Given the description of an element on the screen output the (x, y) to click on. 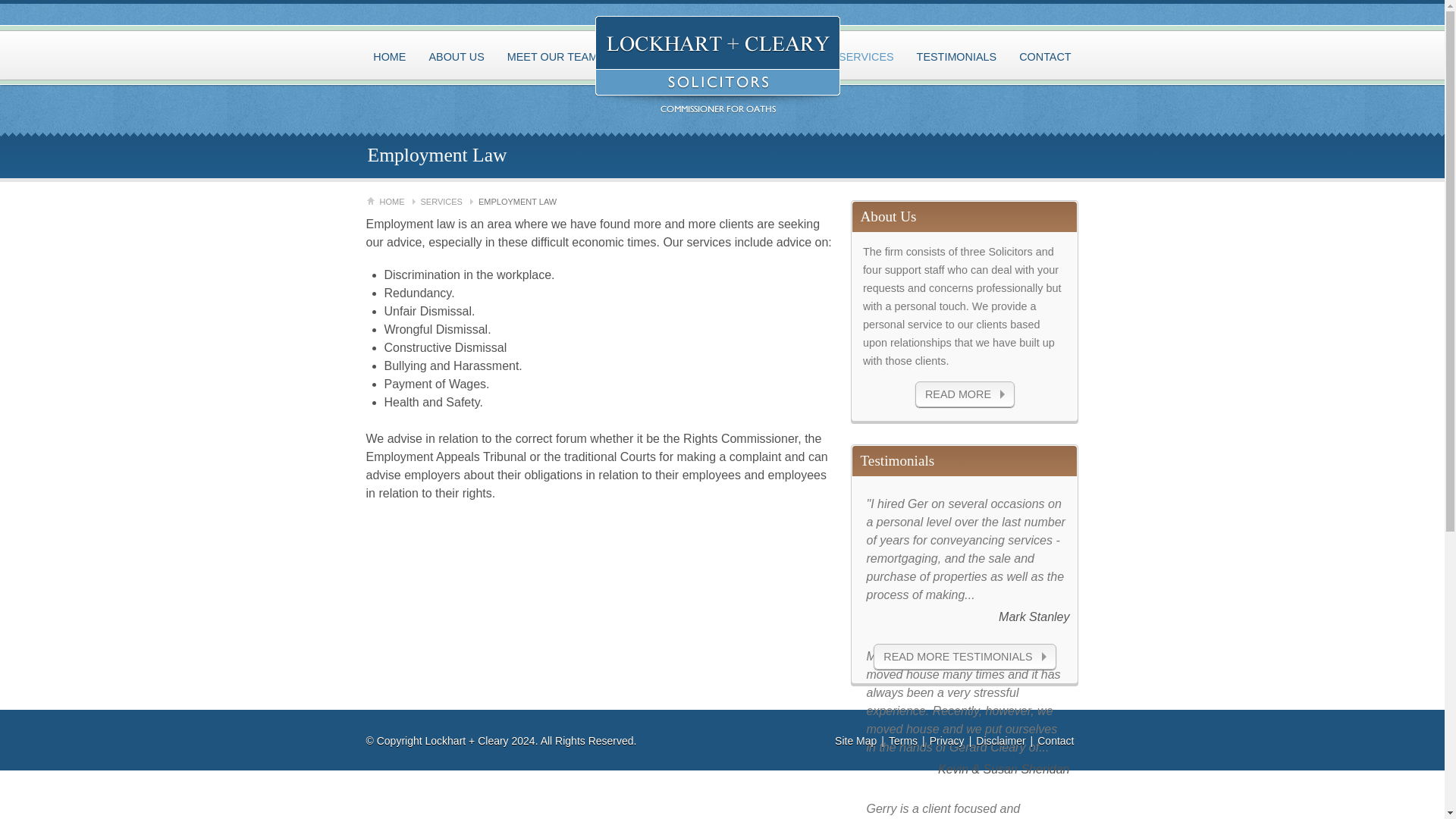
READ MORE (964, 394)
CONTACT (1044, 56)
SERVICES (445, 201)
TESTIMONIALS (957, 56)
Terms (904, 741)
Contact (1057, 741)
SERVICES (865, 56)
READ MORE TESTIMONIALS (964, 656)
Site Map (857, 741)
HOME (389, 56)
MEET OUR TEAM (551, 56)
Disclaimer (1002, 741)
ABOUT US (455, 56)
Privacy (949, 741)
HOME (396, 201)
